Given the description of an element on the screen output the (x, y) to click on. 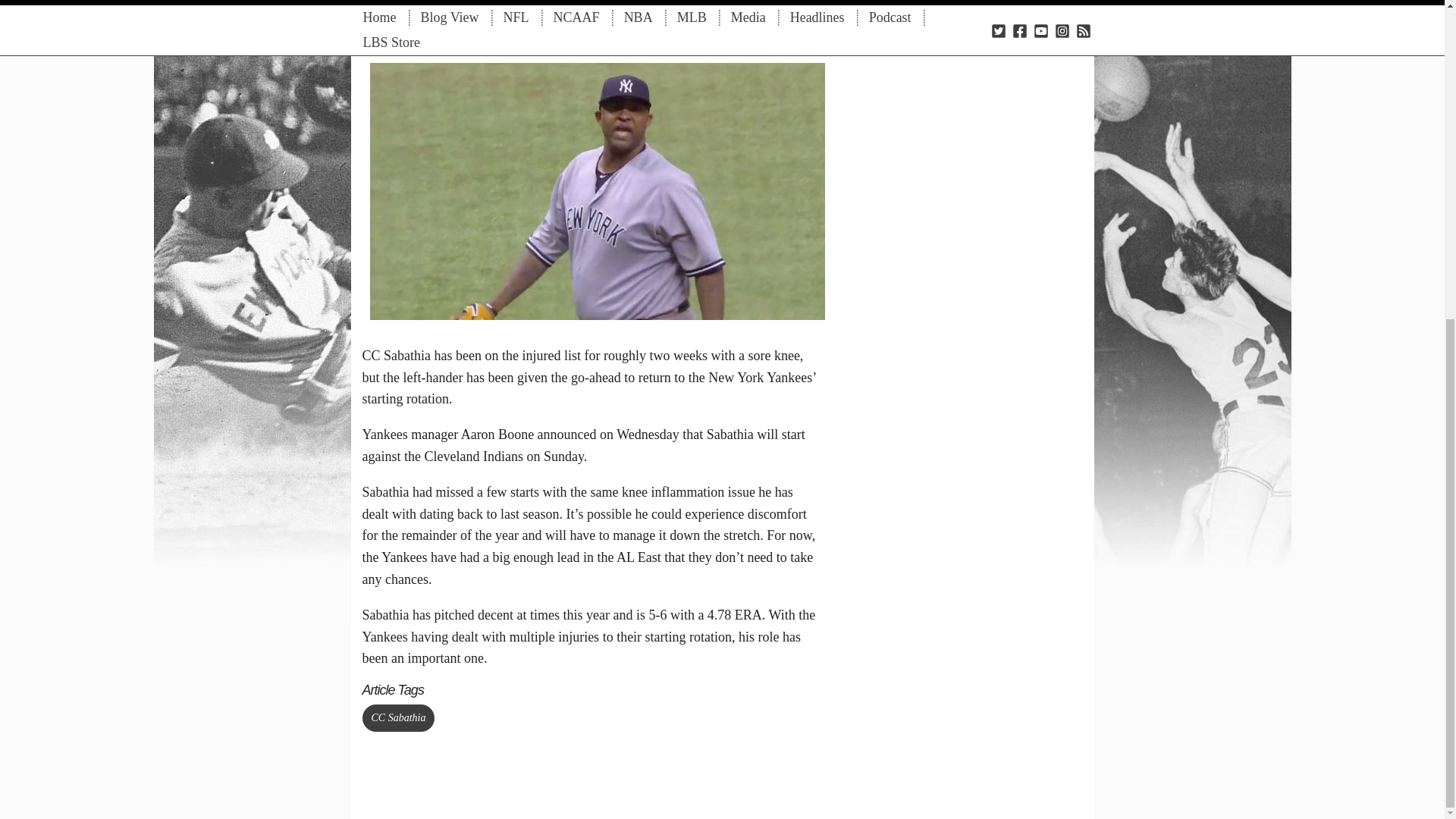
Steve DelVecchio (486, 5)
Twitter (665, 11)
Flipboard (692, 11)
Facebook (638, 11)
Share (610, 11)
